Given the description of an element on the screen output the (x, y) to click on. 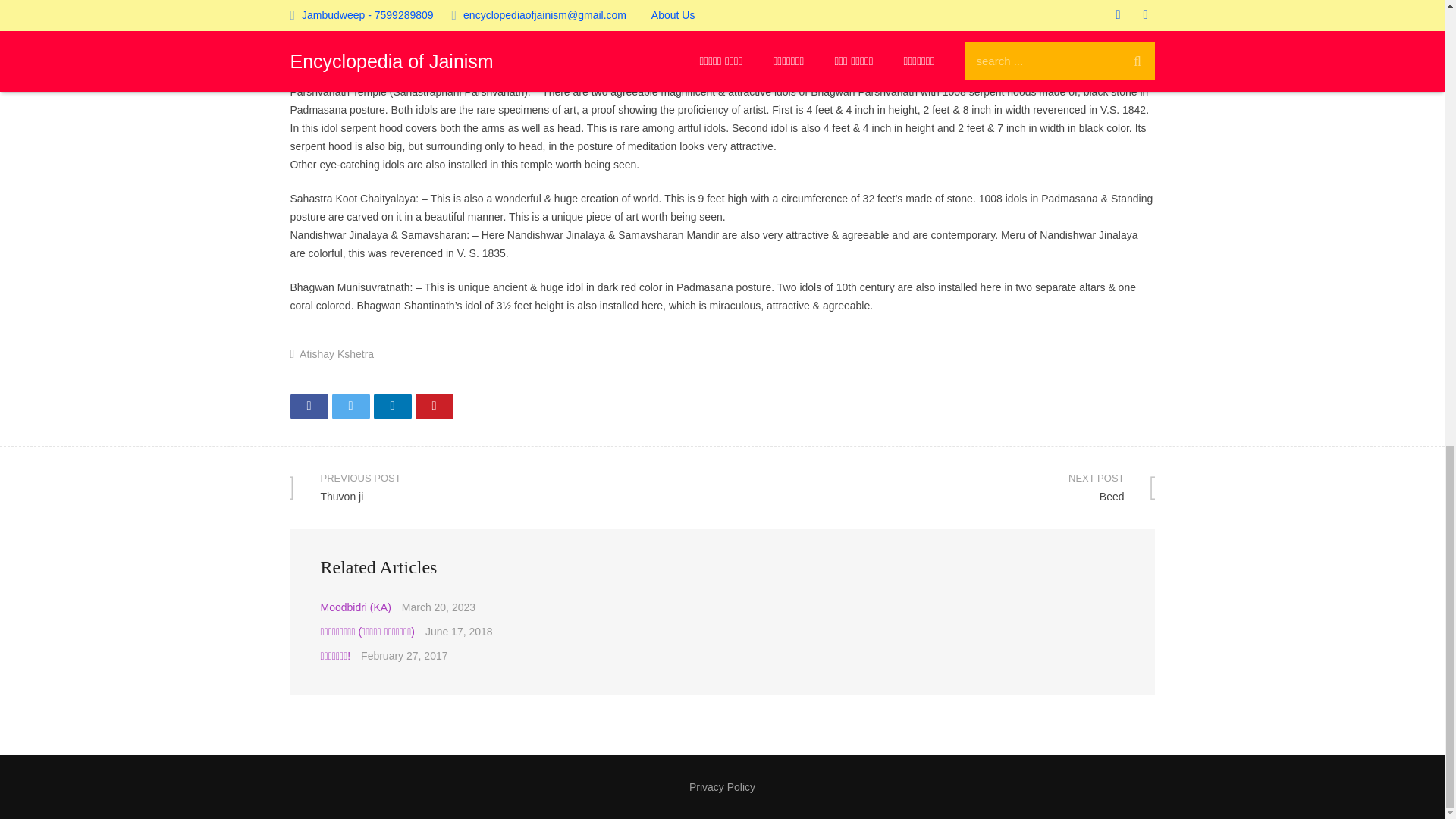
Pin this (433, 406)
Atishay Kshetra (938, 487)
Privacy Policy (336, 354)
Tweet this (721, 787)
Share this (350, 406)
Share this (391, 406)
